Given the description of an element on the screen output the (x, y) to click on. 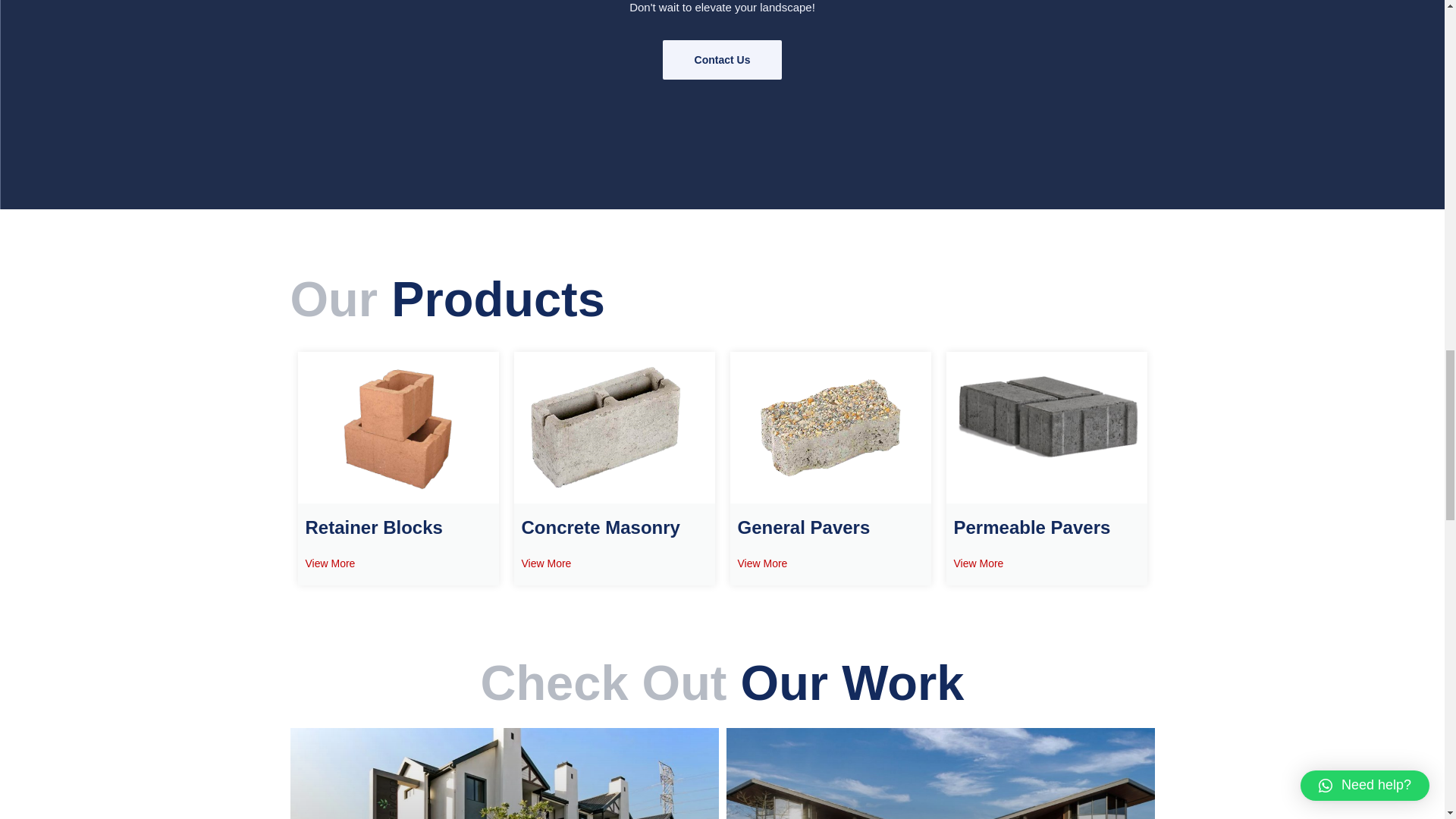
Contact Us (722, 59)
View More (978, 562)
View More (761, 562)
View More (329, 562)
View More (546, 562)
